Given the description of an element on the screen output the (x, y) to click on. 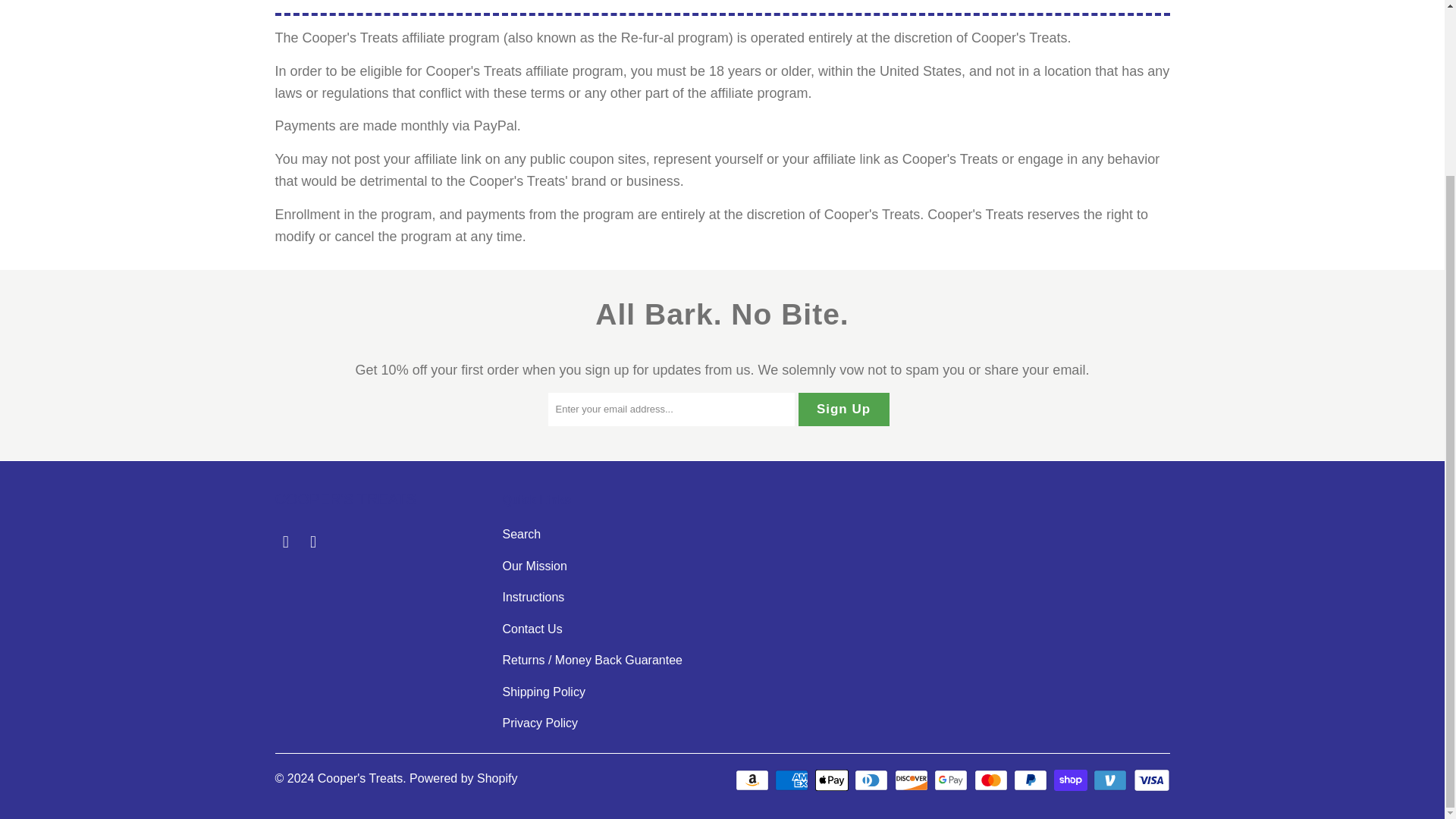
Discover (913, 780)
Venmo (1111, 780)
Shop Pay (1072, 780)
Search (521, 533)
Google Pay (952, 780)
Amazon (753, 780)
Privacy Policy (540, 722)
American Express (792, 780)
Mastercard (992, 780)
Sign Up (842, 409)
